Given the description of an element on the screen output the (x, y) to click on. 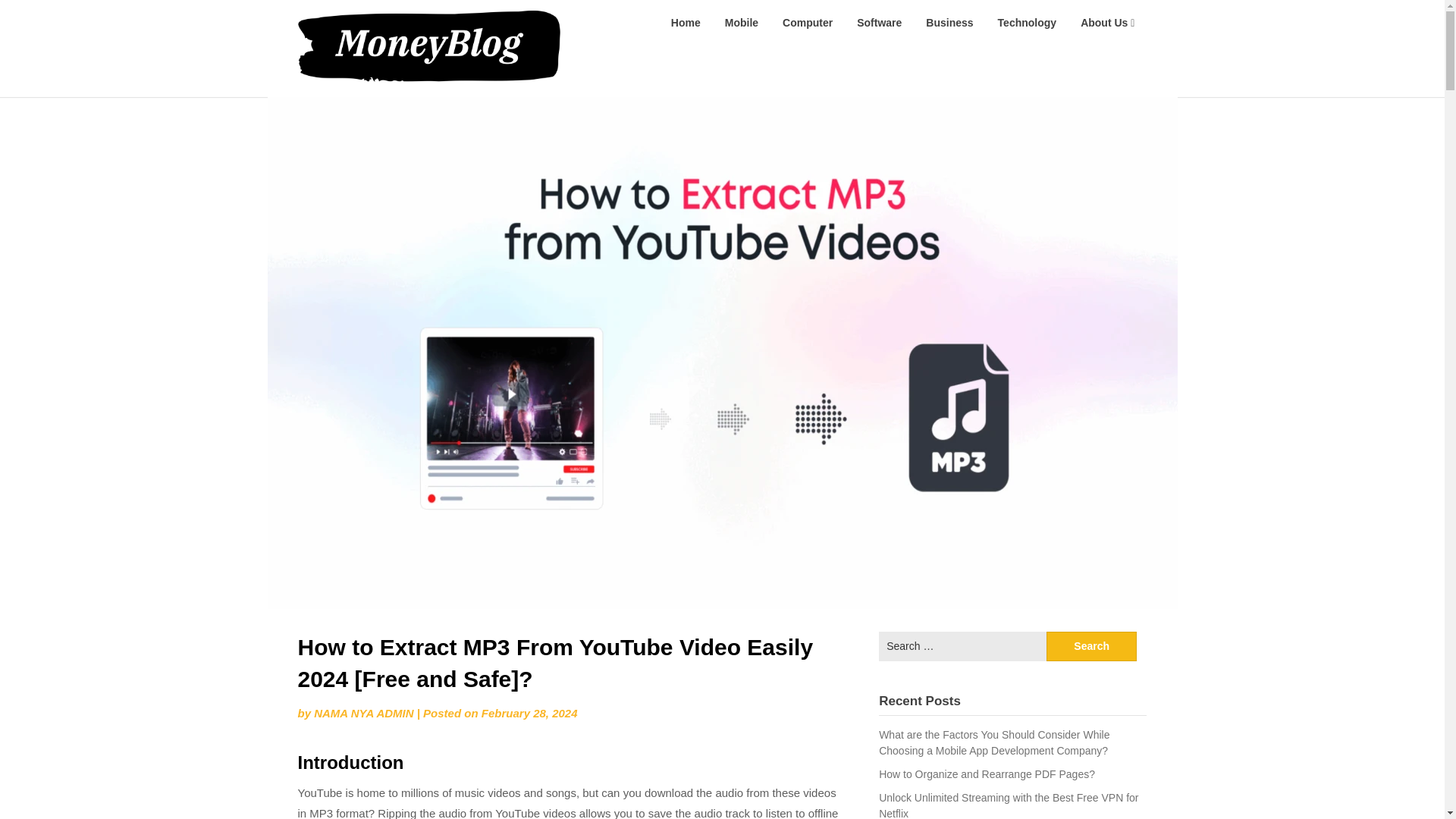
Search (1091, 645)
Home (686, 22)
Search (1091, 645)
February 28, 2024 (529, 712)
Technology (1026, 22)
Mobile (741, 22)
NAMA NYA ADMIN (363, 712)
Computer (807, 22)
Software (879, 22)
upperthomson.my.id (651, 21)
About Us (1107, 22)
Business (949, 22)
Search (1091, 645)
